Given the description of an element on the screen output the (x, y) to click on. 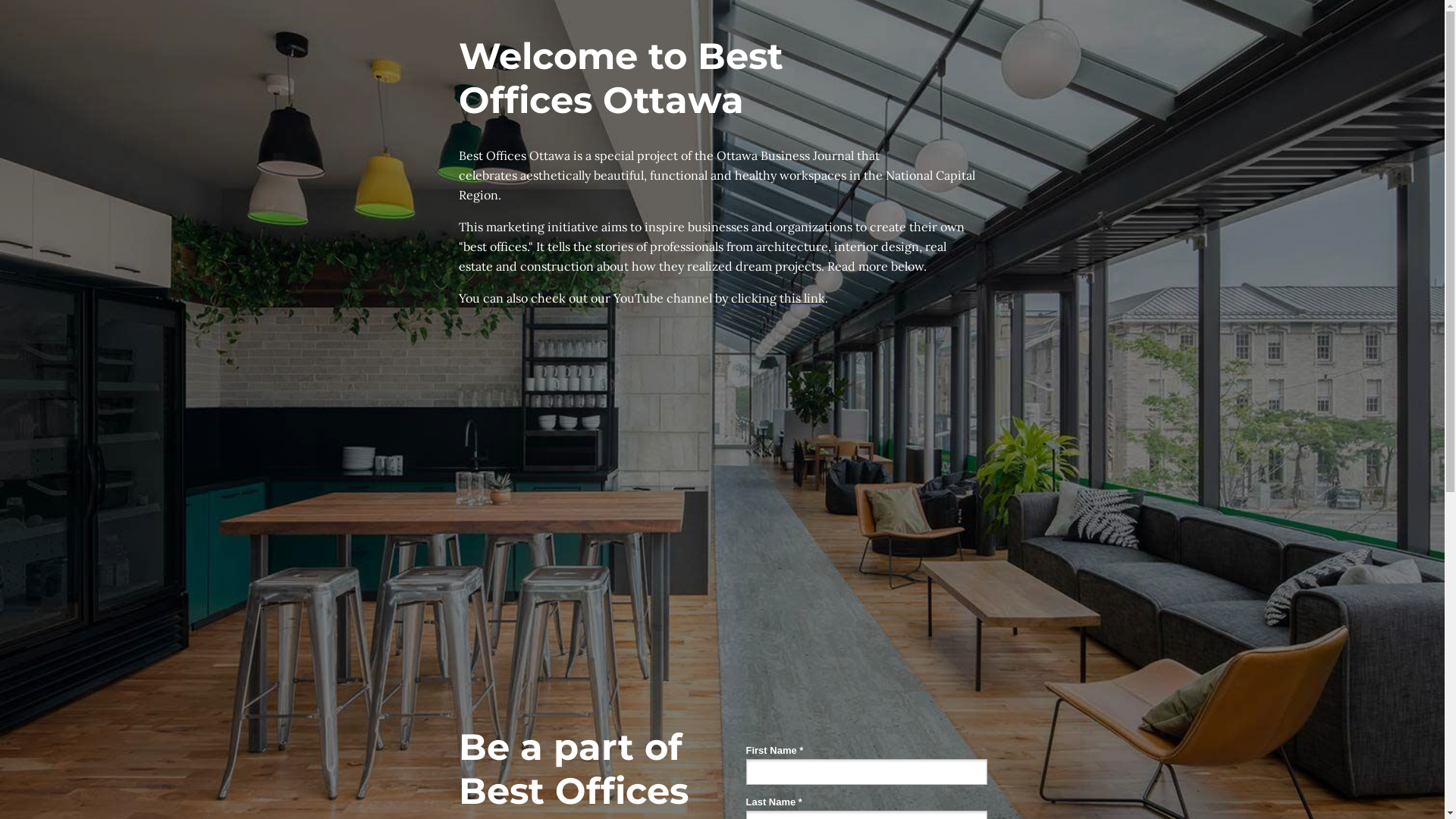
clicking this link Element type: text (778, 298)
